Given the description of an element on the screen output the (x, y) to click on. 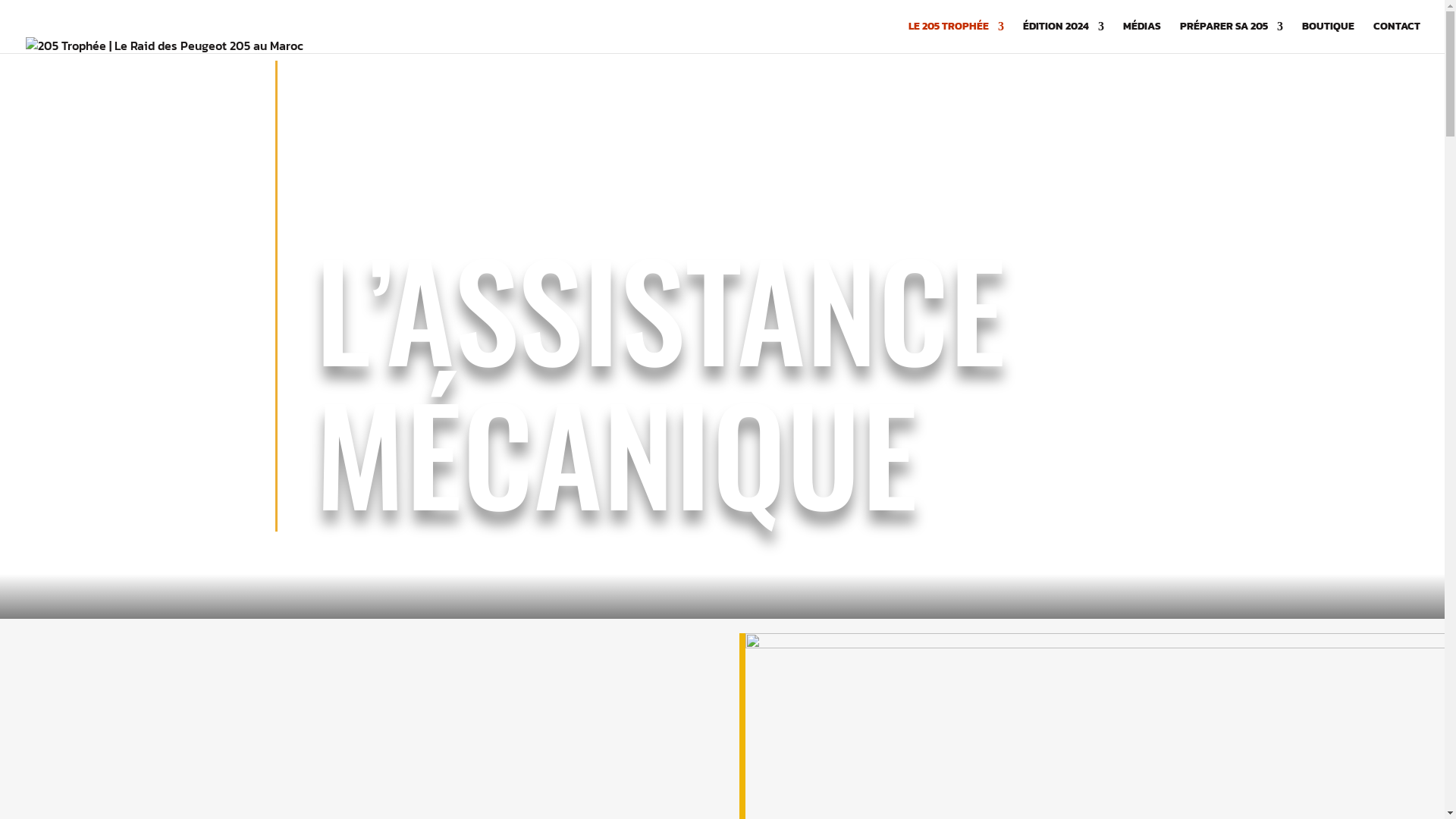
BOUTIQUE Element type: text (1328, 37)
CONTACT Element type: text (1396, 37)
